Given the description of an element on the screen output the (x, y) to click on. 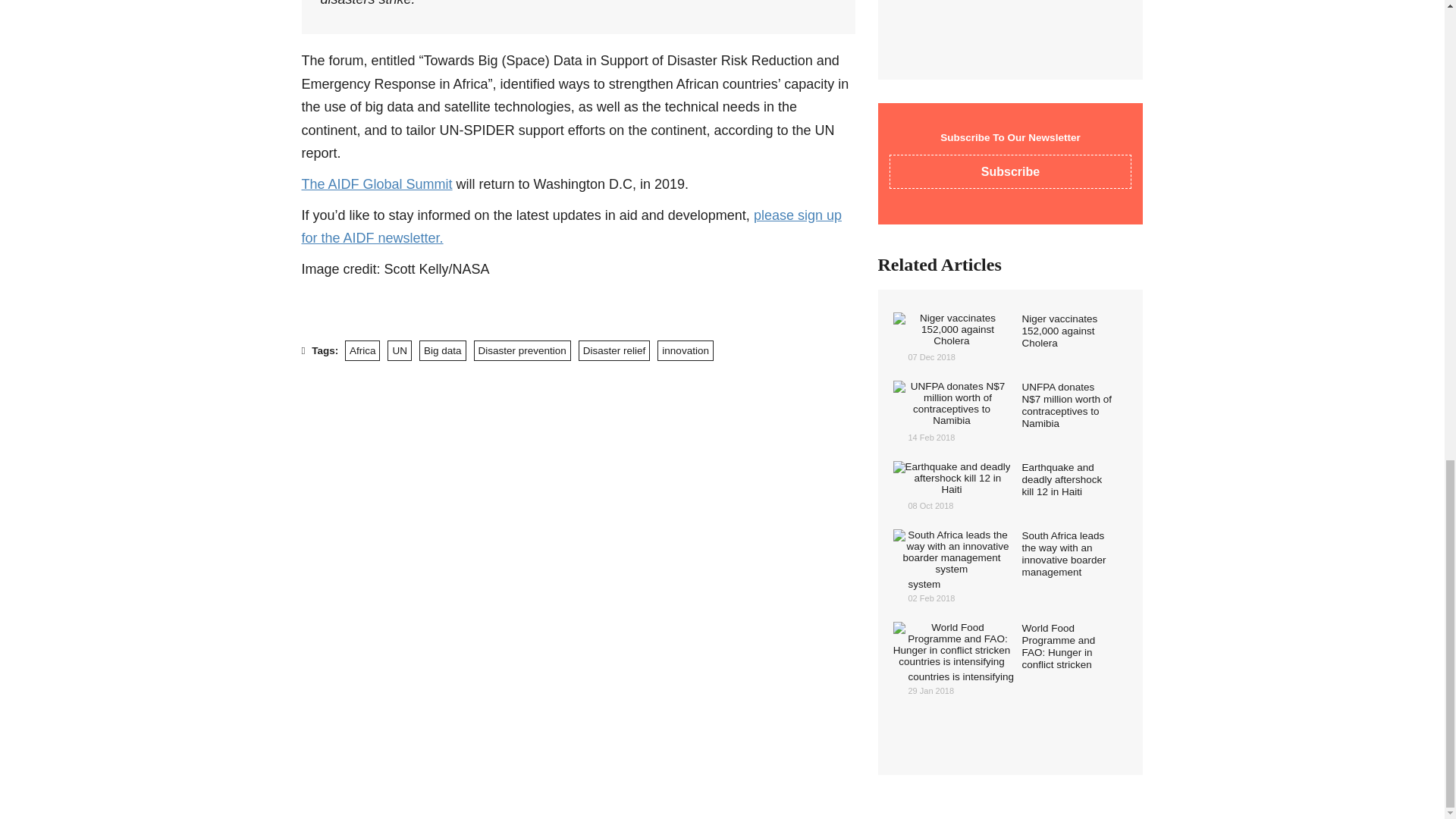
Big data (442, 350)
Africa (362, 350)
UN (399, 350)
